Given the description of an element on the screen output the (x, y) to click on. 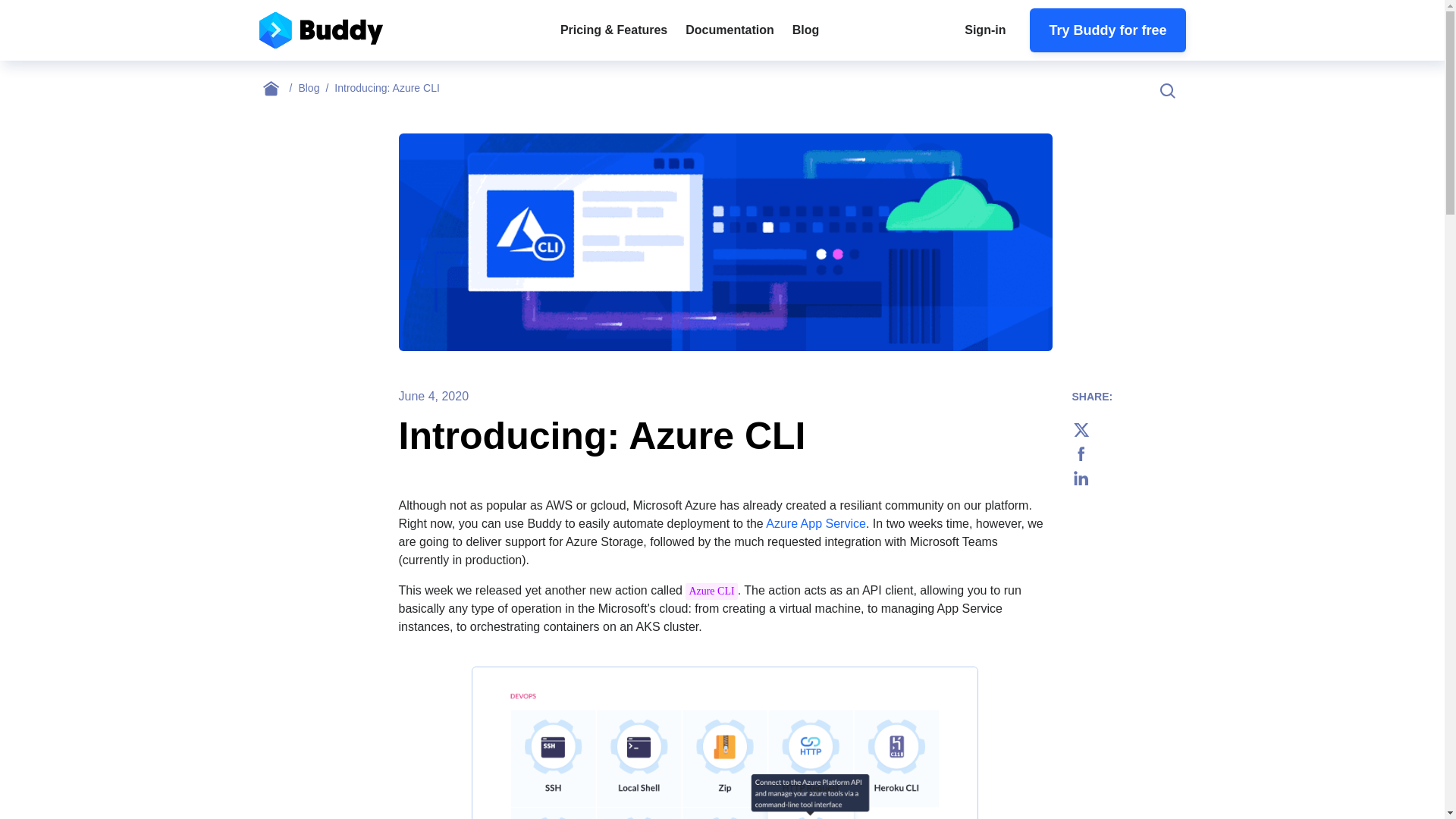
Documentation (729, 30)
Blog (805, 30)
Azure App Service (815, 522)
Sign-in (984, 30)
Try Buddy for free (1107, 30)
Blog (316, 87)
